Given the description of an element on the screen output the (x, y) to click on. 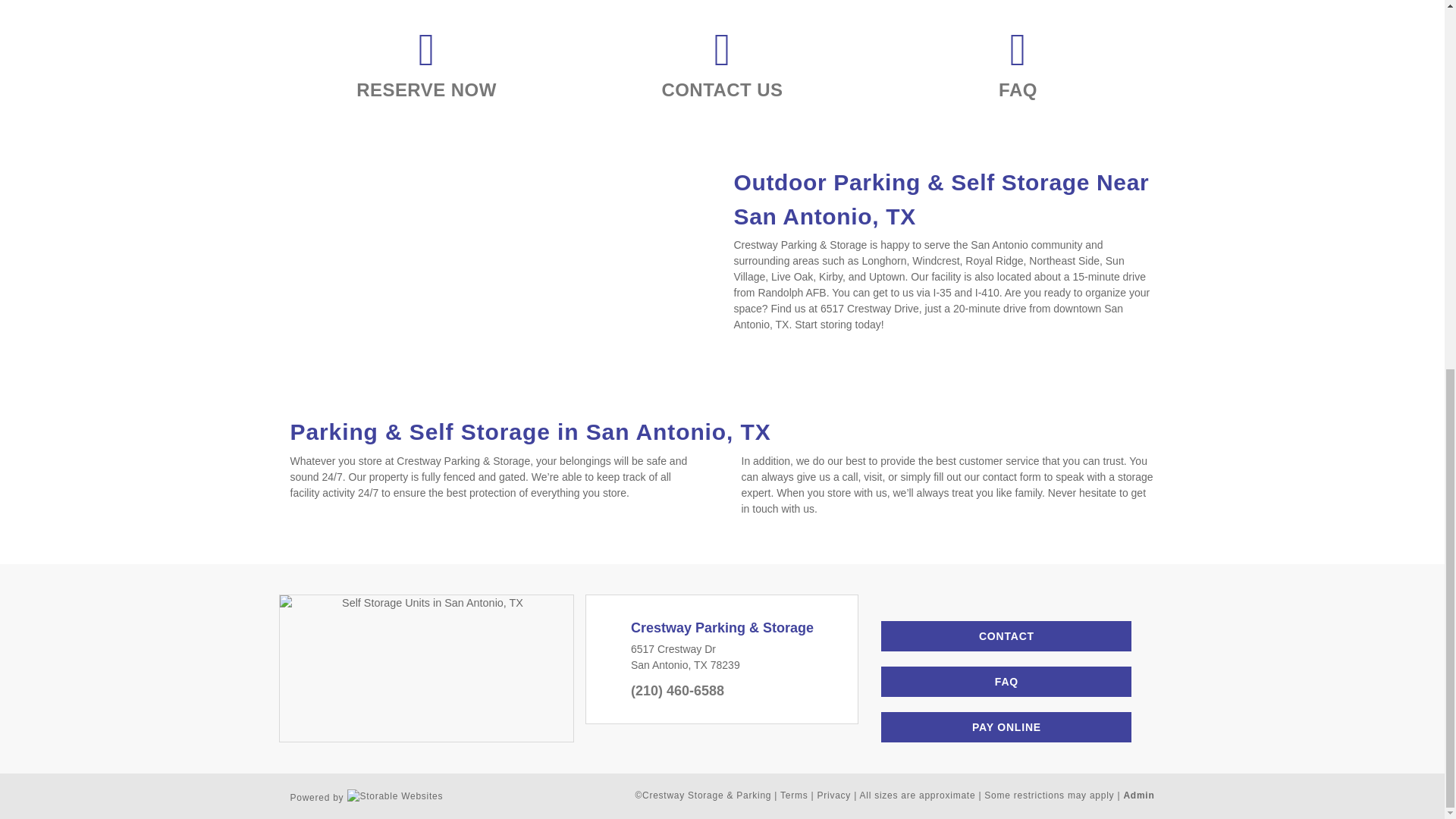
FAQ (1017, 91)
Powered by (365, 795)
RESERVE NOW (426, 91)
CONTACT (1005, 635)
Admin (1138, 795)
Terms (794, 795)
CONTACT US (722, 91)
Privacy (833, 795)
FAQ (1005, 681)
PAY ONLINE (1005, 726)
